Given the description of an element on the screen output the (x, y) to click on. 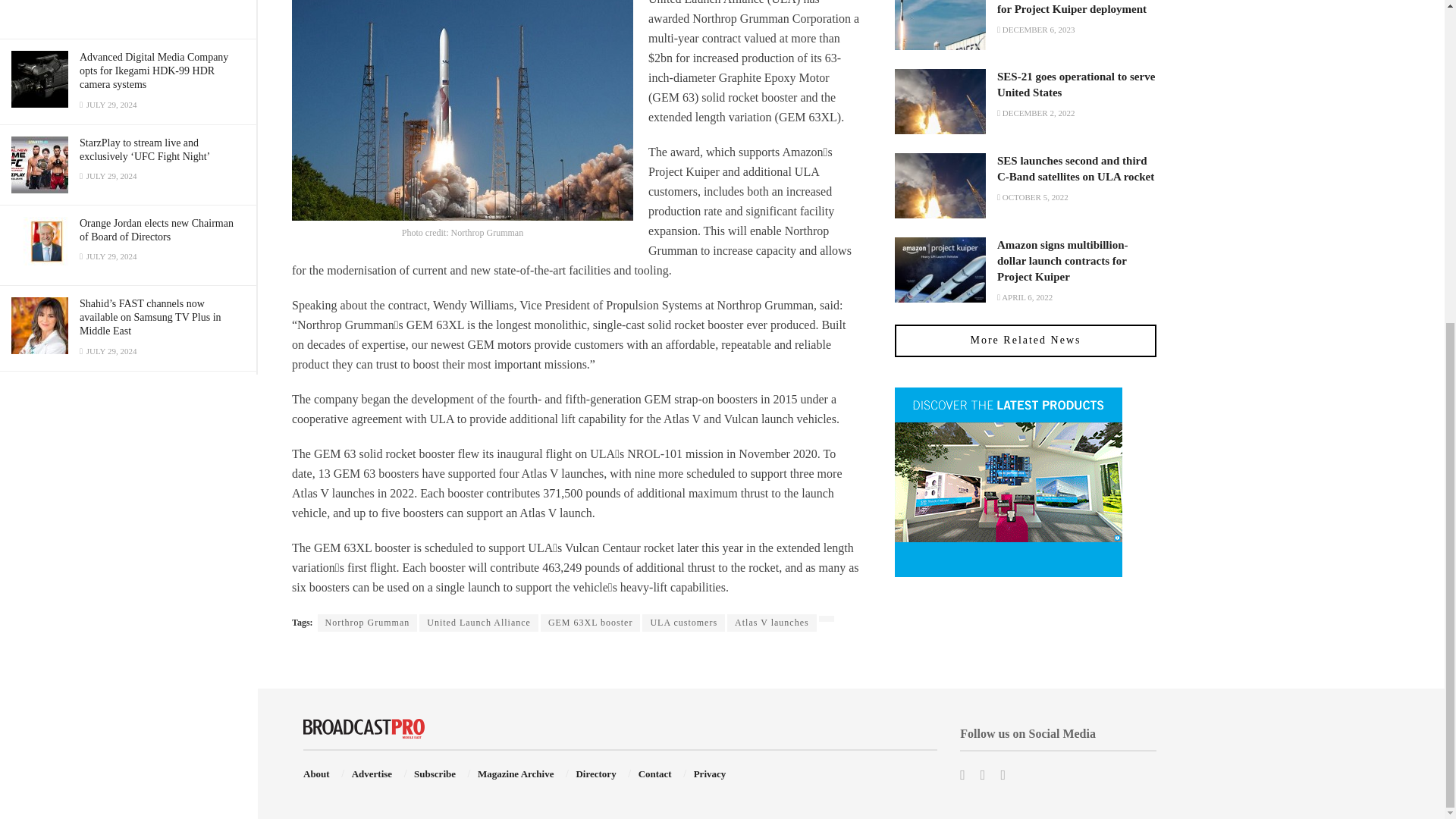
Orange Jordan elects new Chairman of Board of Directors (156, 229)
3rd party ad content (127, 13)
